Given the description of an element on the screen output the (x, y) to click on. 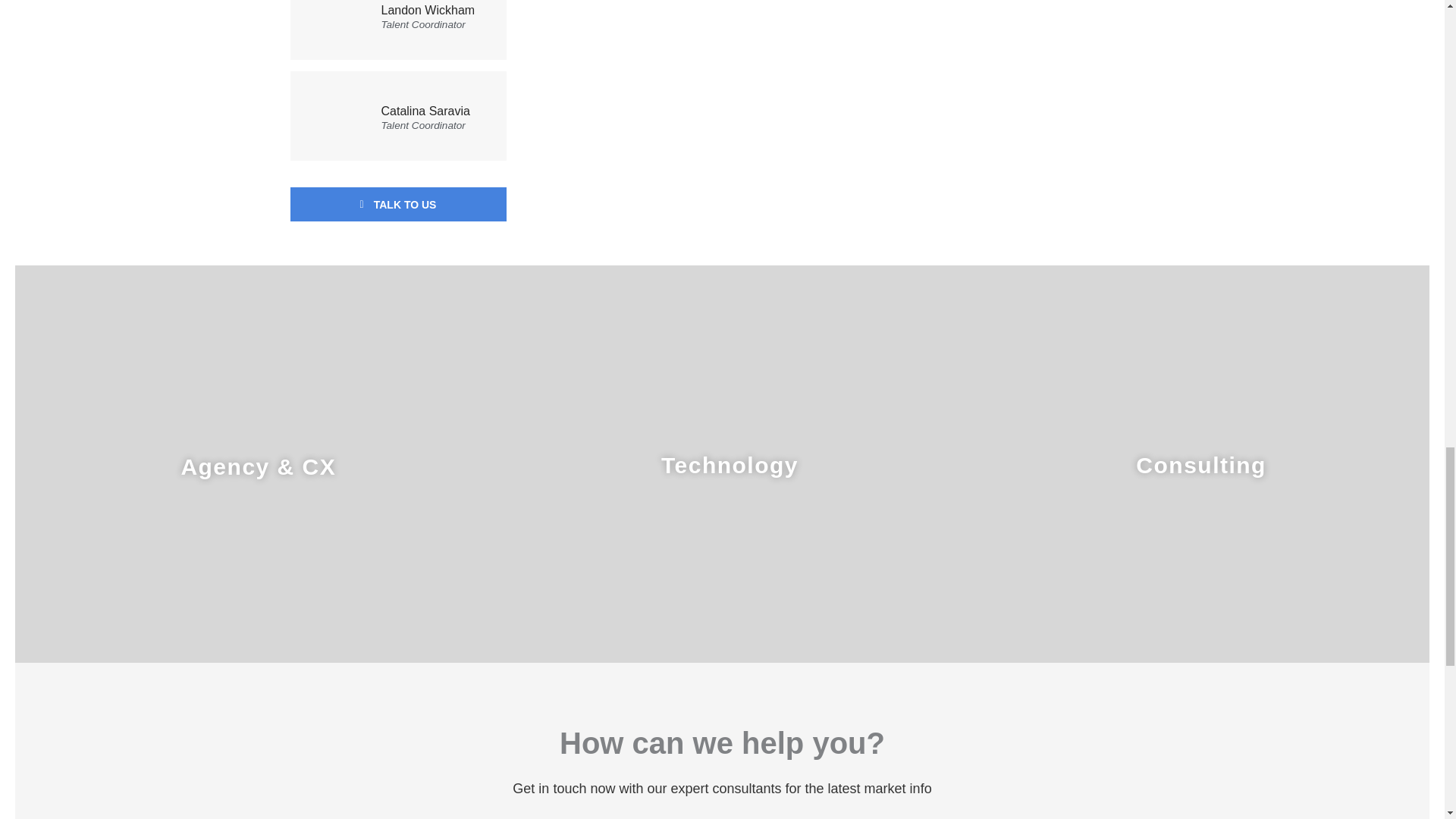
TALK TO US (397, 204)
